Given the description of an element on the screen output the (x, y) to click on. 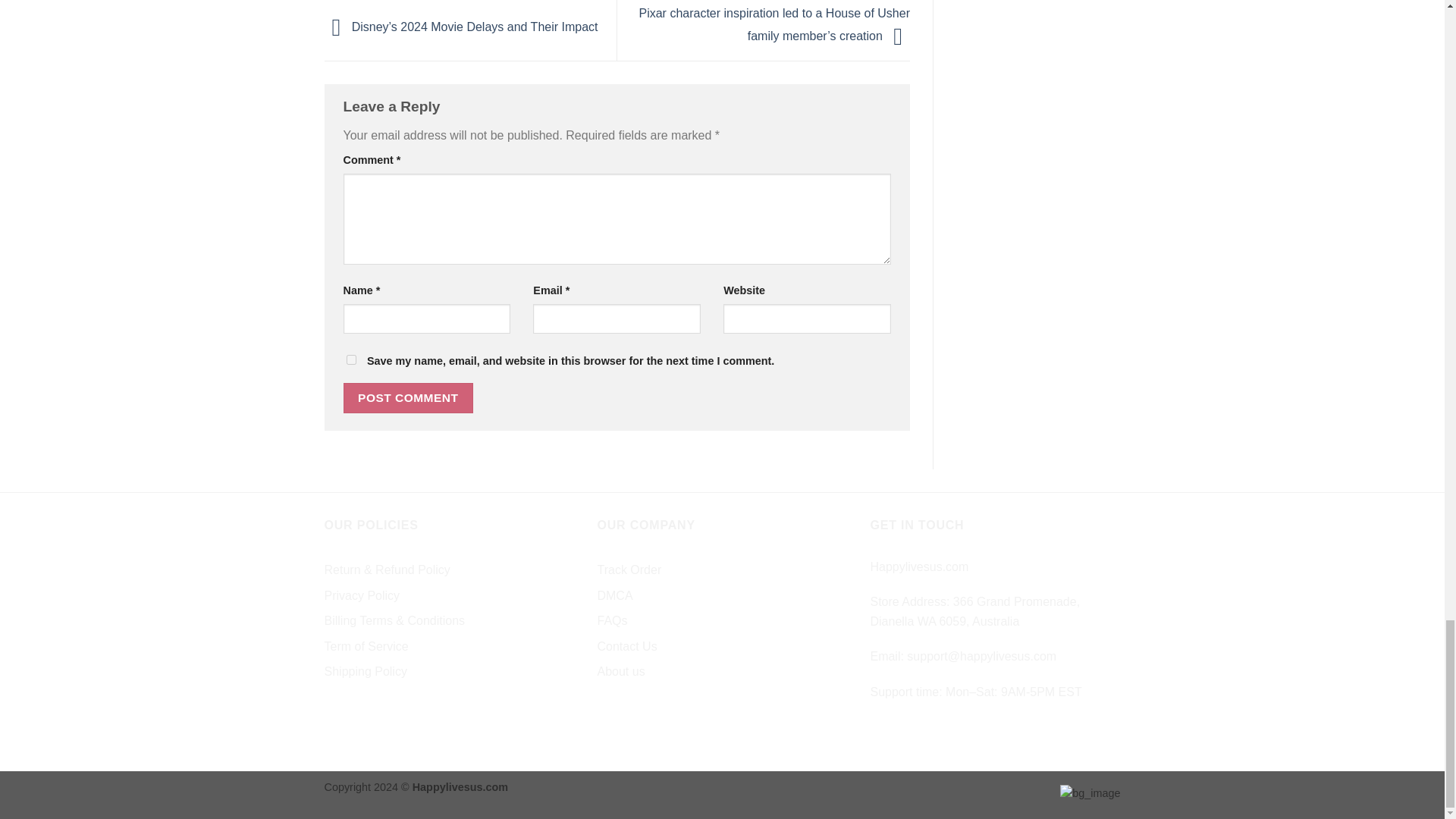
yes (350, 359)
Post Comment (407, 397)
Post Comment (407, 397)
